Given the description of an element on the screen output the (x, y) to click on. 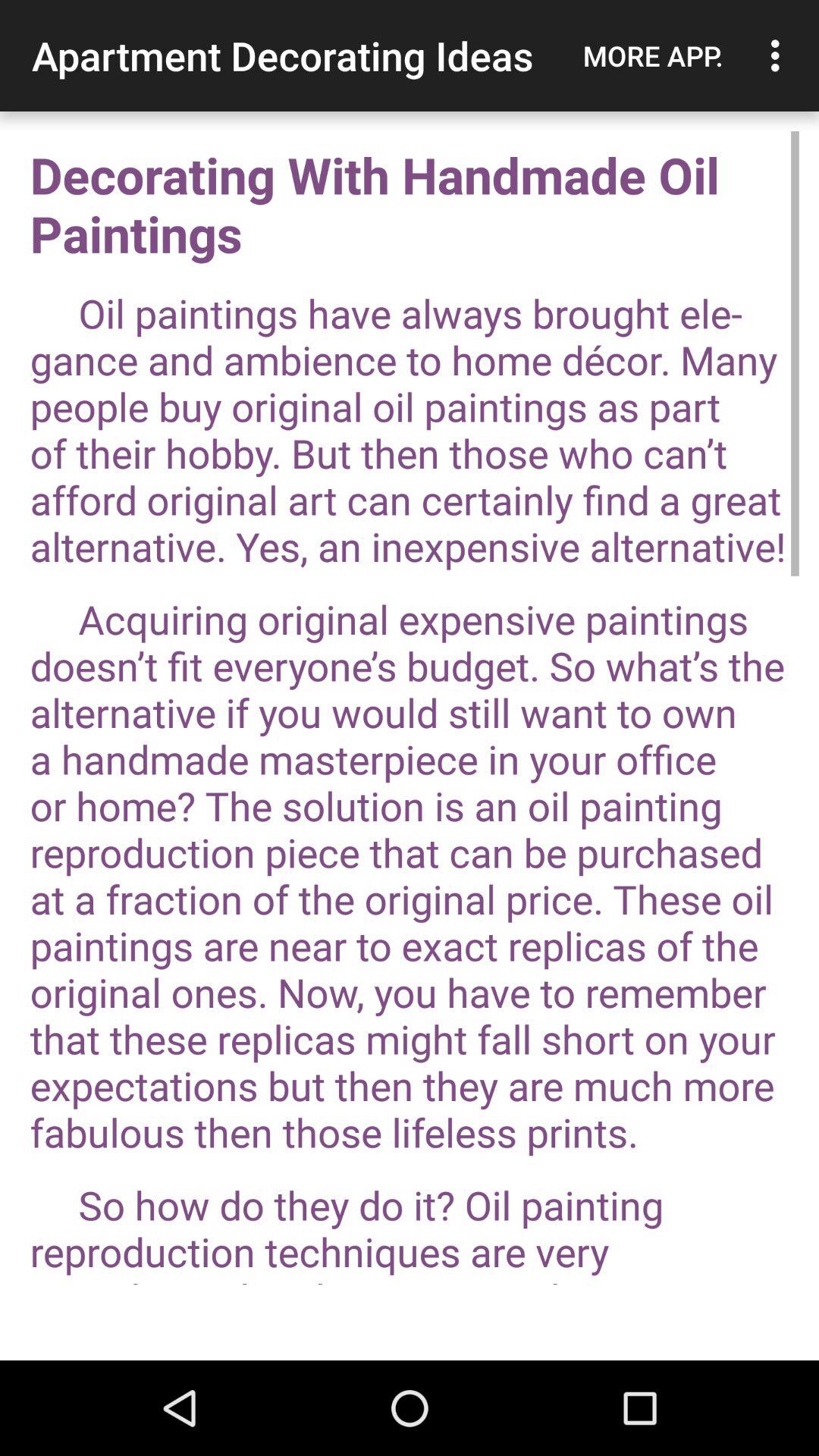
press app above the decorating with handmade item (653, 55)
